Given the description of an element on the screen output the (x, y) to click on. 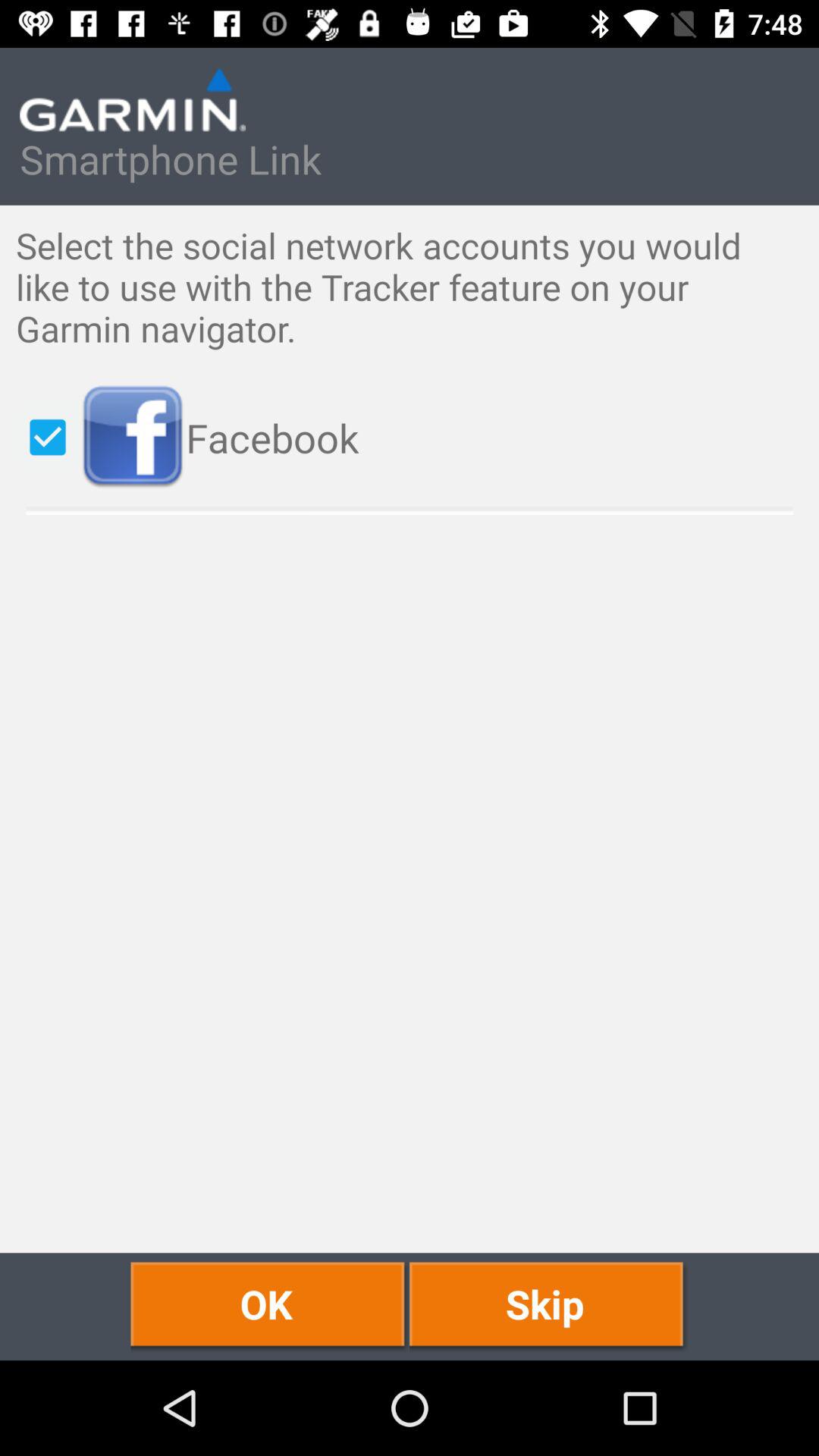
swipe to facebook item (441, 437)
